Given the description of an element on the screen output the (x, y) to click on. 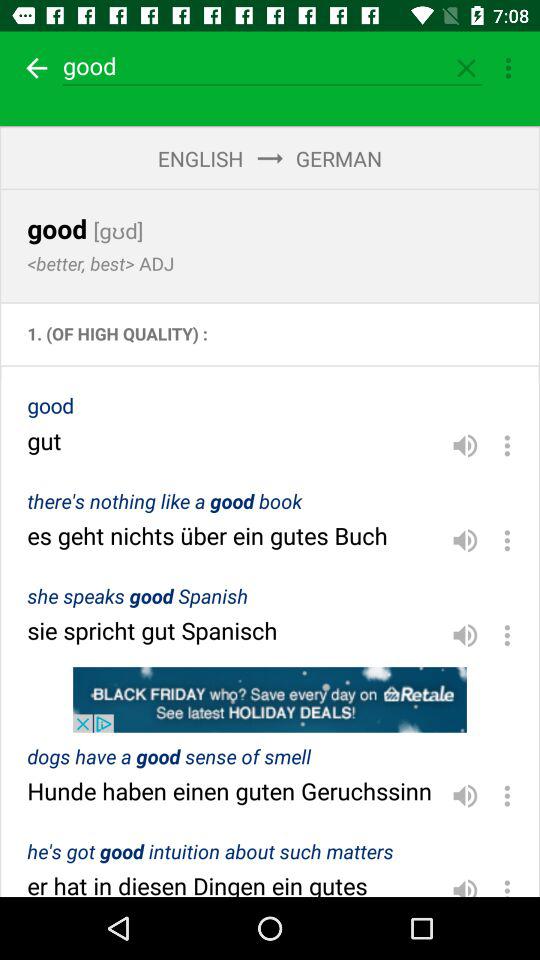
sound (465, 445)
